Given the description of an element on the screen output the (x, y) to click on. 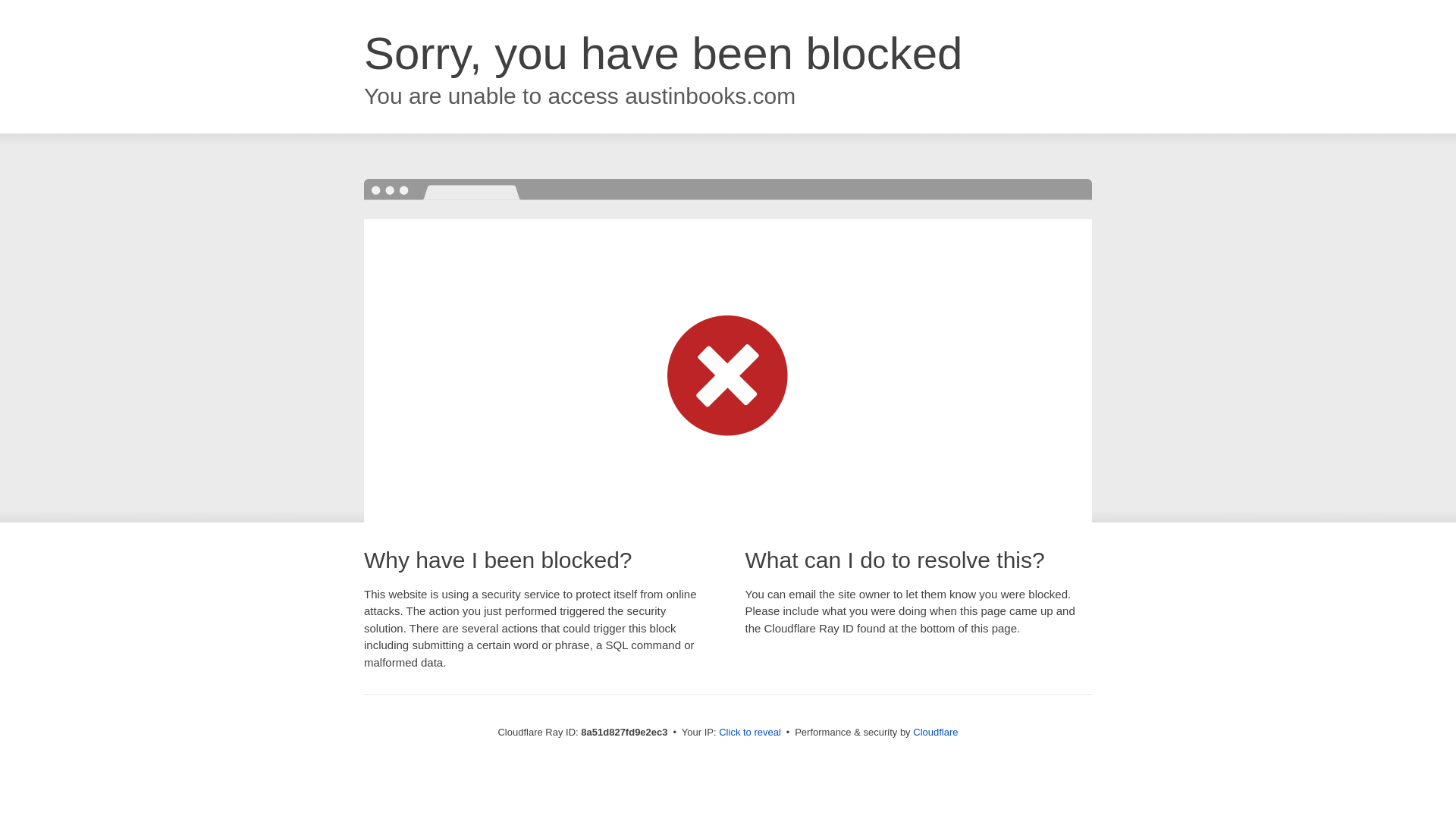
Cloudflare (935, 731)
Click to reveal (749, 732)
